Given the description of an element on the screen output the (x, y) to click on. 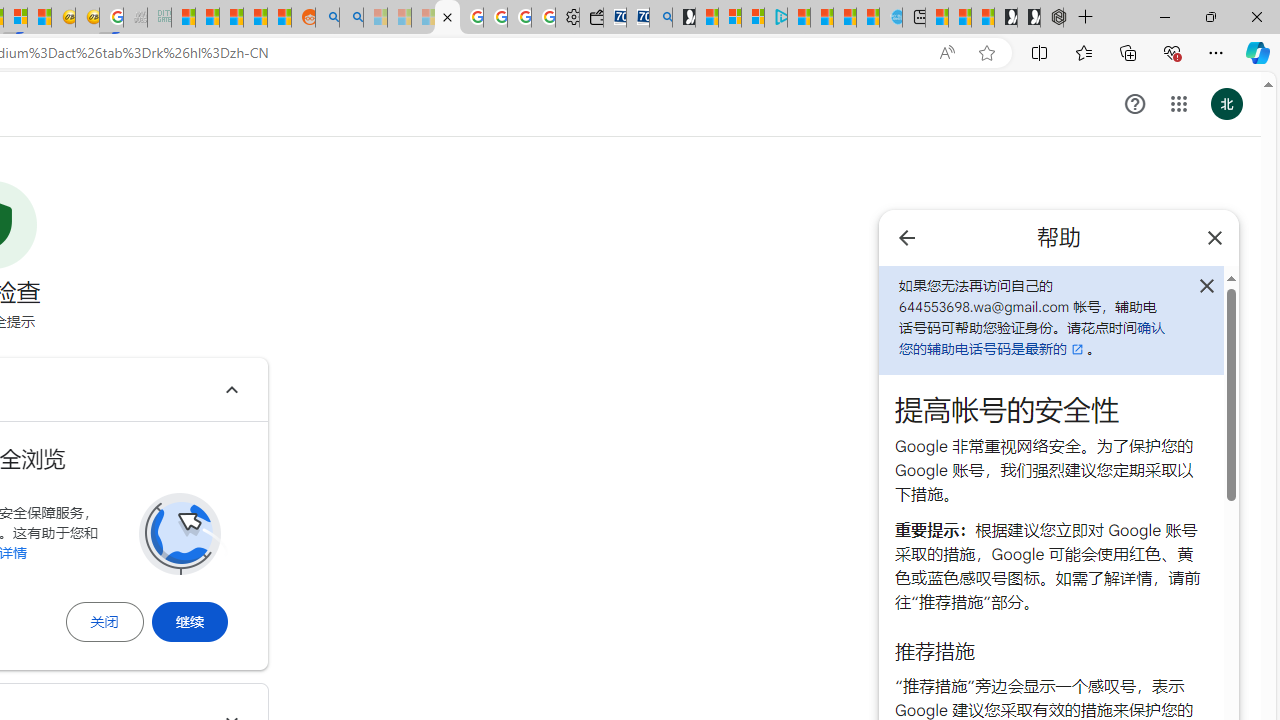
DITOGAMES AG Imprint - Sleeping (159, 17)
Student Loan Update: Forgiveness Program Ends This Month (255, 17)
